Given the description of an element on the screen output the (x, y) to click on. 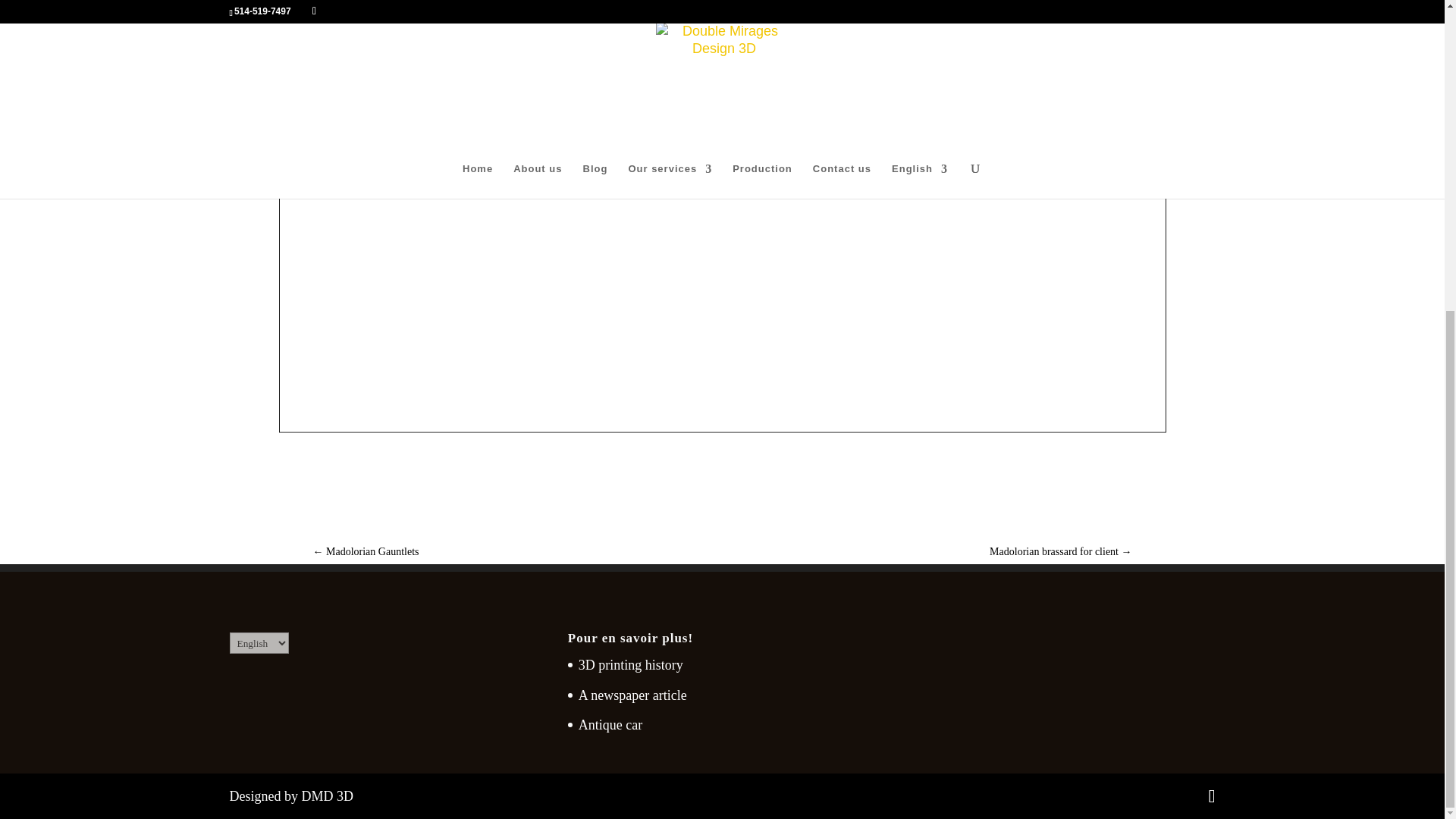
LaGrave01 (771, 432)
Antique car (610, 724)
A newspaper article (632, 694)
3D printing history (630, 664)
